Given the description of an element on the screen output the (x, y) to click on. 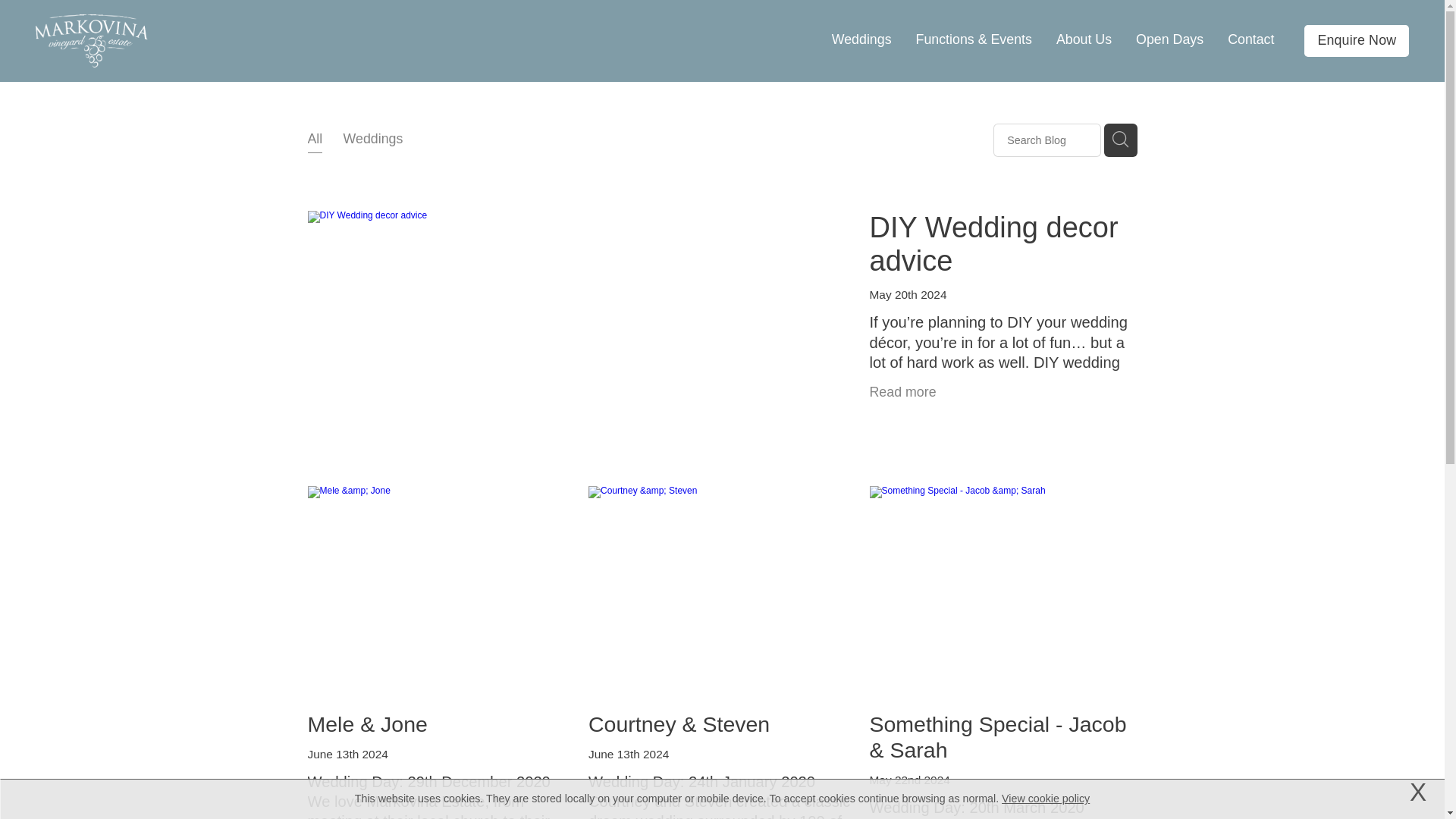
DIY Wedding decor advice (993, 243)
Enquire Now (1356, 41)
DIY Wedding decor advice (993, 243)
About Us (1084, 38)
Weddings (373, 140)
All (315, 138)
Contact (1250, 38)
DIY Wedding decor advice (1000, 339)
Open Days (1169, 38)
Weddings (861, 38)
